Given the description of an element on the screen output the (x, y) to click on. 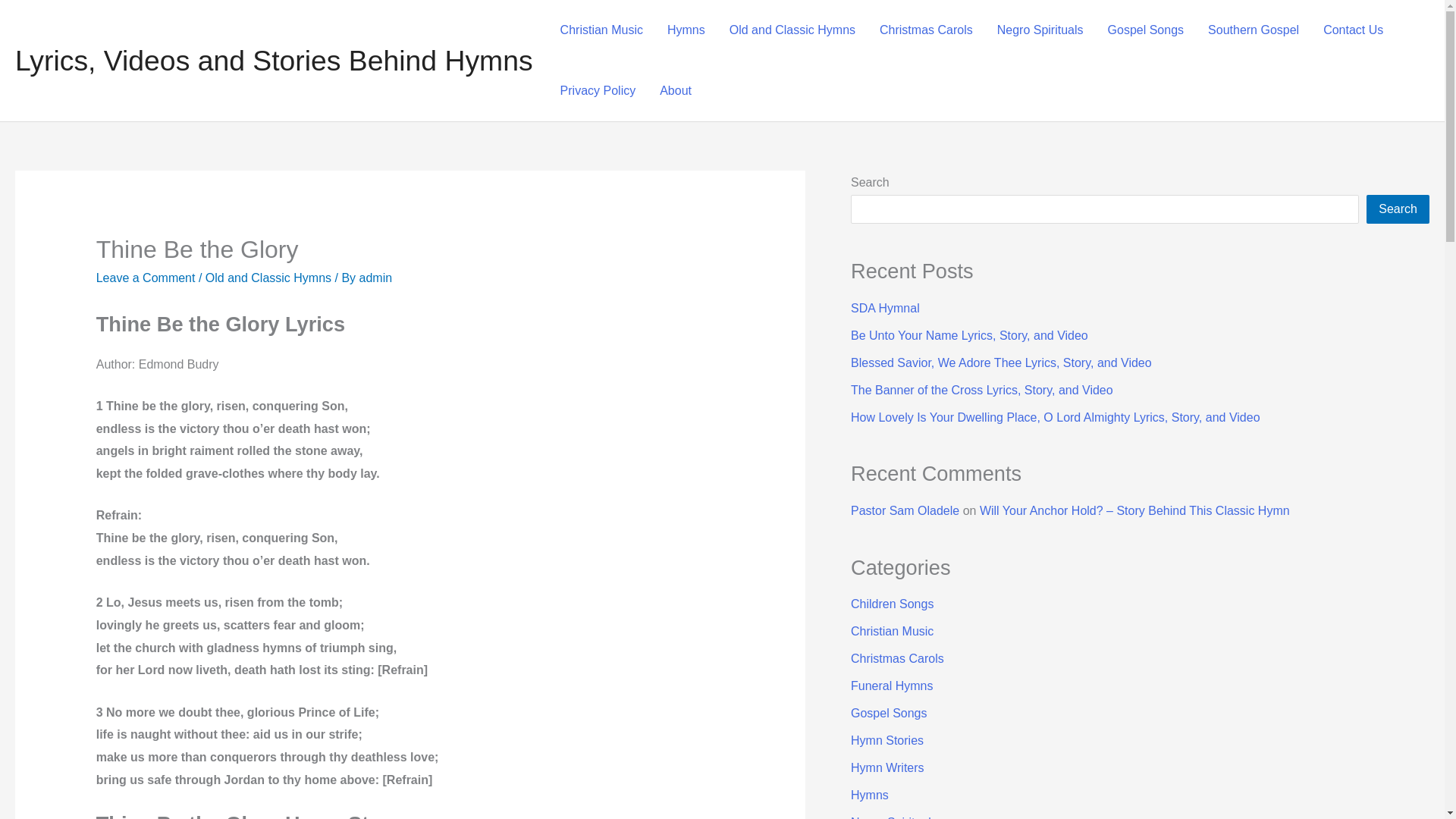
Lyrics, Videos and Stories Behind Hymns (273, 60)
SDA Hymnal (885, 308)
Negro Spirituals (1040, 30)
Children Songs (891, 603)
About (675, 90)
Leave a Comment (145, 277)
Blessed Savior, We Adore Thee Lyrics, Story, and Video (1000, 362)
Old and Classic Hymns (792, 30)
View all posts by admin (376, 277)
admin (376, 277)
Gospel Songs (1146, 30)
Hymns (686, 30)
Pastor Sam Oladele (904, 510)
Christian Music (891, 631)
